Given the description of an element on the screen output the (x, y) to click on. 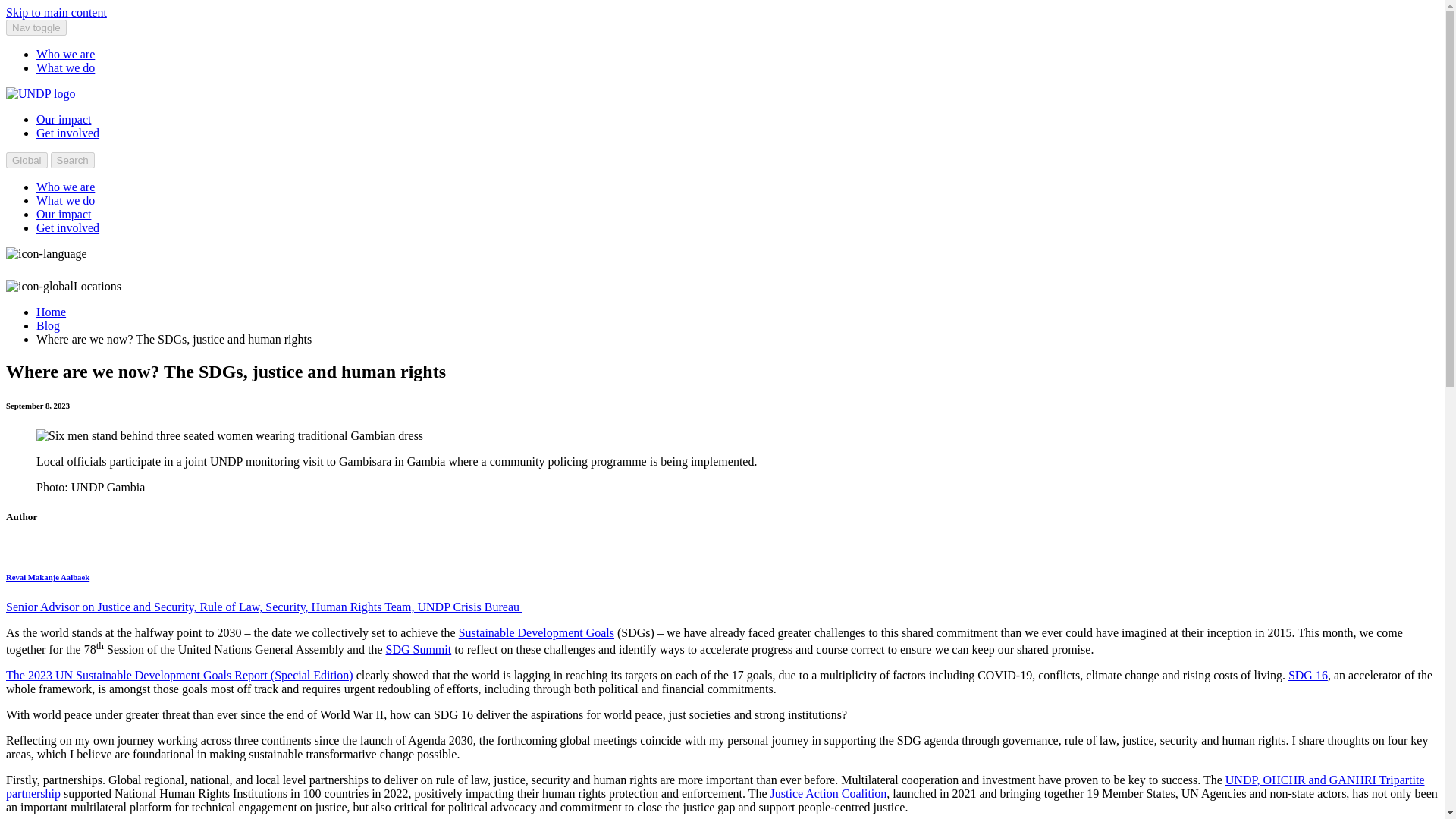
Who we are (65, 53)
Skip to main content (55, 11)
Sustainable Development Goals (536, 632)
SDG 16 (1307, 675)
Search (72, 160)
Justice Action Coalition (828, 793)
Locations (62, 286)
Blog (47, 325)
SDG Summit (418, 649)
Our impact (63, 214)
